Given the description of an element on the screen output the (x, y) to click on. 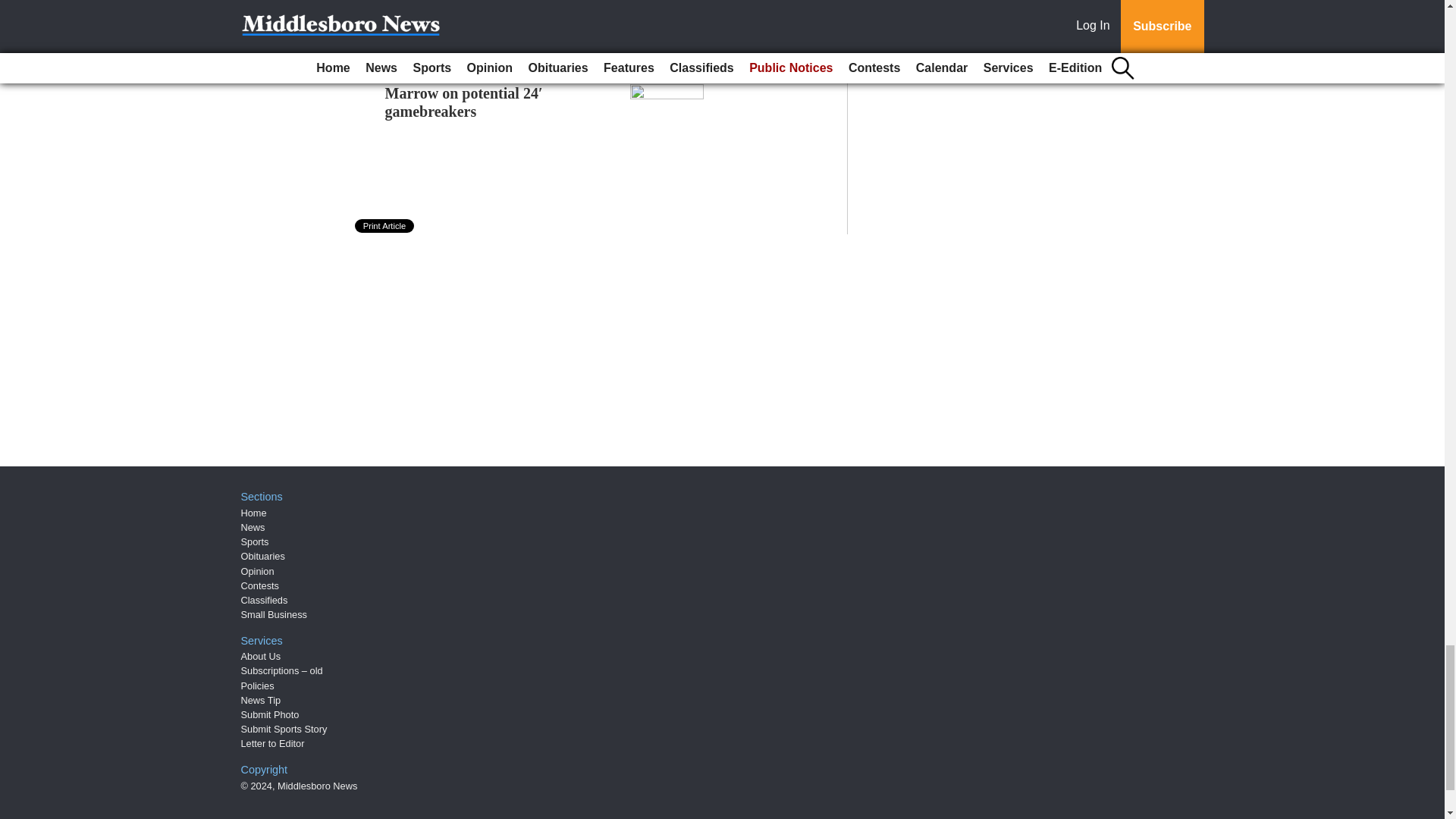
News (252, 527)
Print Article (384, 225)
Home (253, 512)
